Given the description of an element on the screen output the (x, y) to click on. 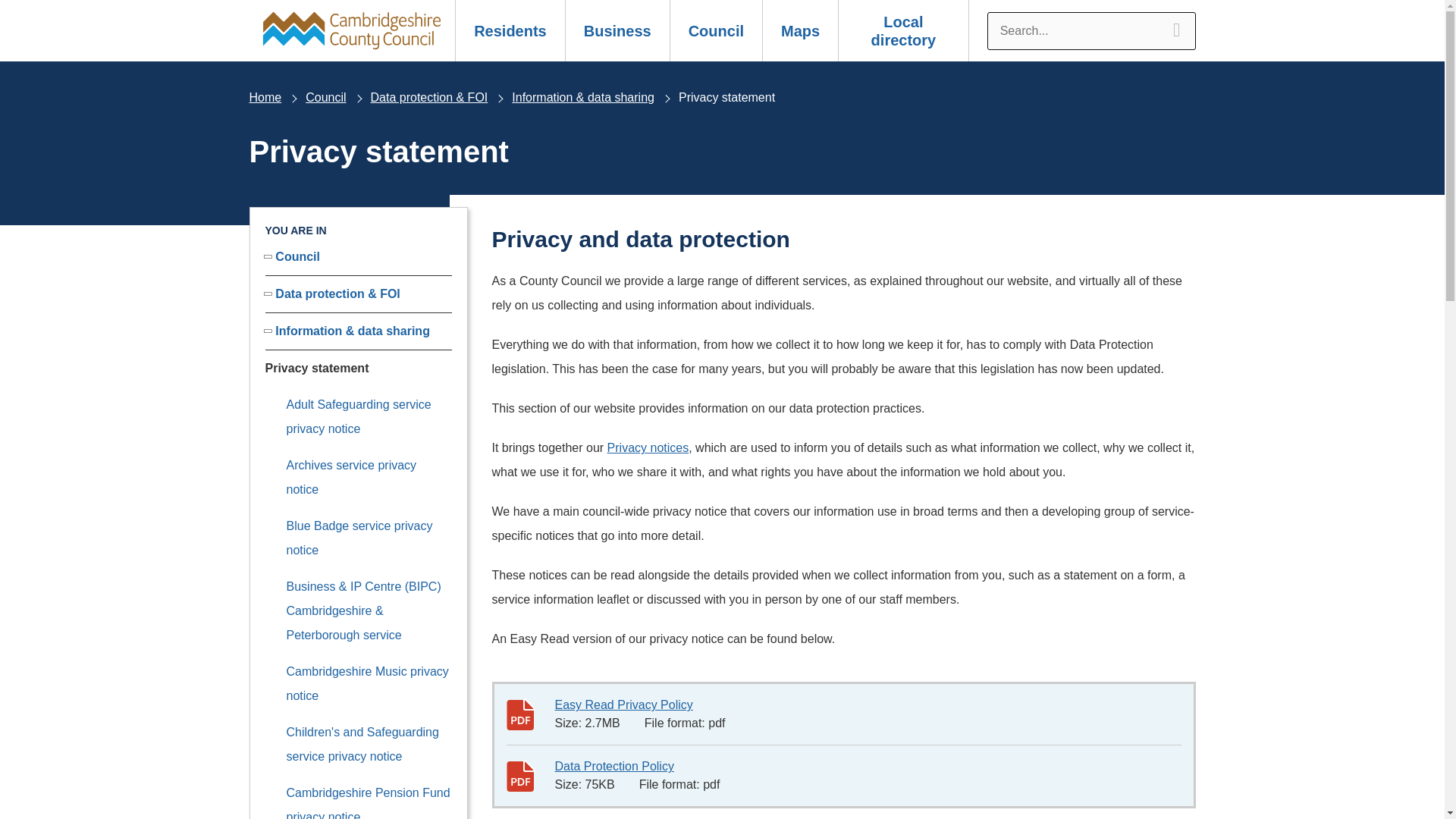
Children's and Safeguarding service privacy notice (362, 743)
Cambridgeshire Music privacy notice (367, 683)
Privacy notices (647, 447)
Council (325, 97)
Blue Badge service privacy notice (359, 537)
Skip to main content (12, 9)
Local directory (903, 31)
Home (264, 97)
Residents (510, 31)
Business (616, 31)
